Given the description of an element on the screen output the (x, y) to click on. 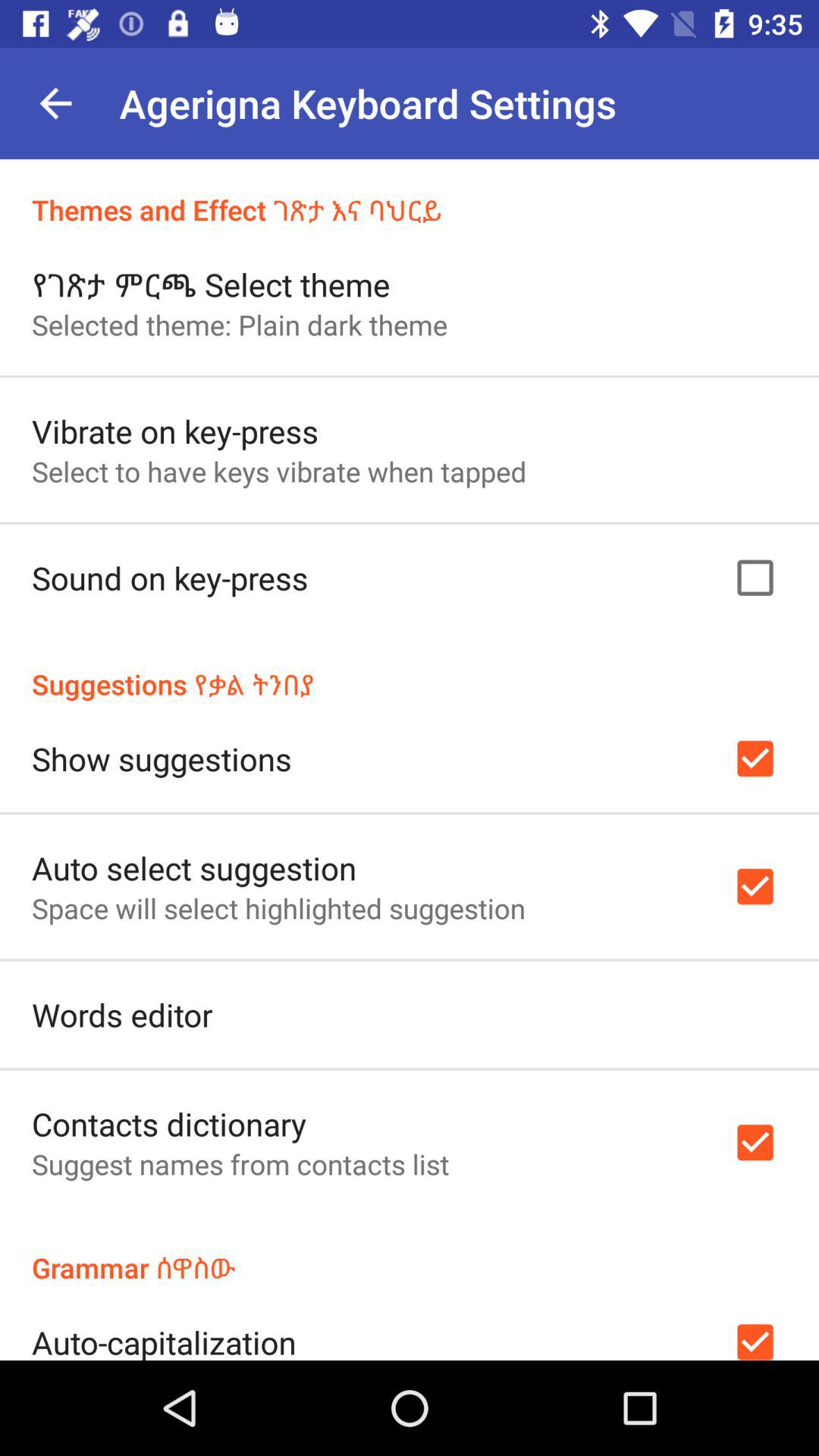
click auto-capitalization (163, 1340)
